Given the description of an element on the screen output the (x, y) to click on. 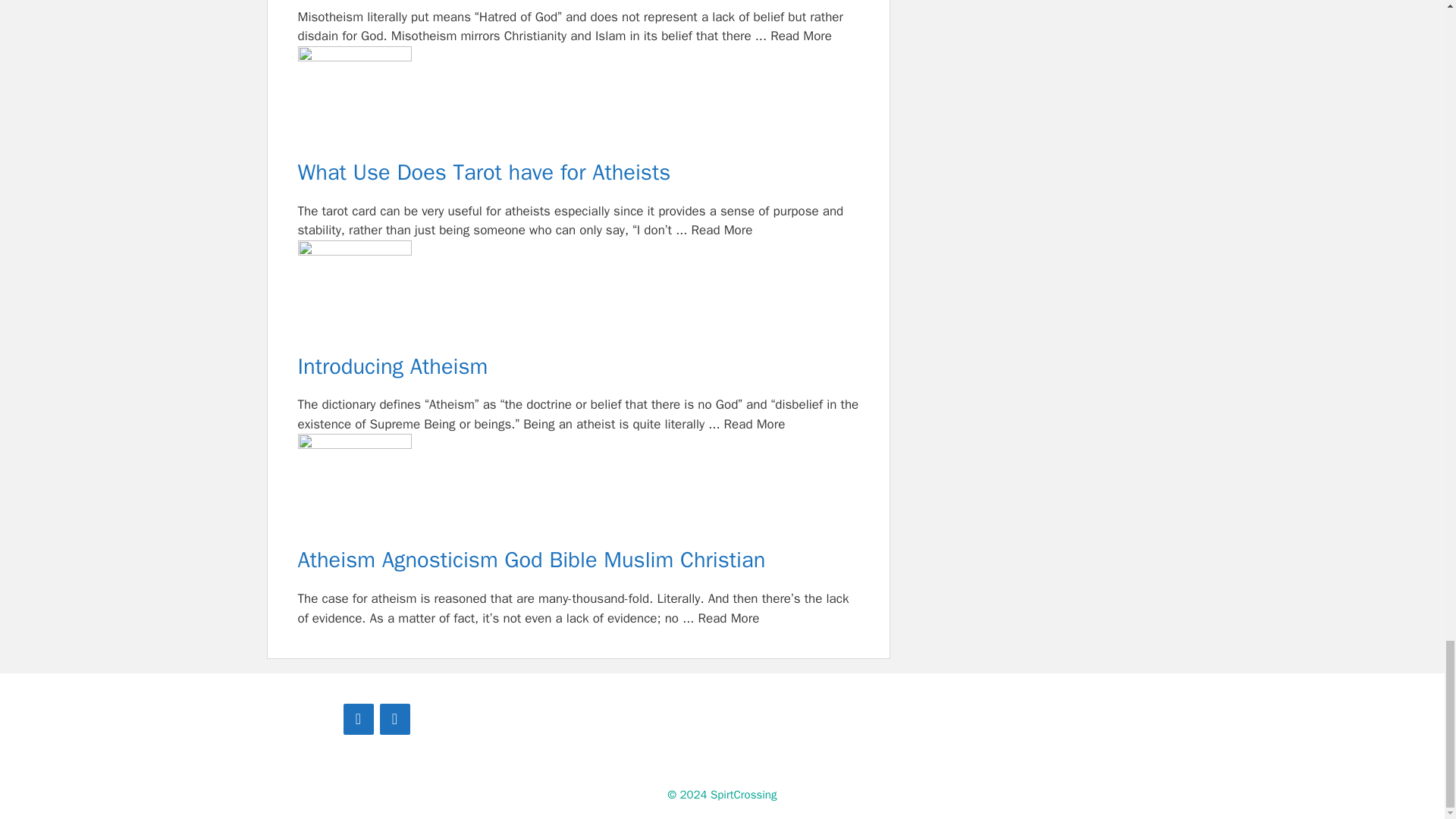
Introducing Atheism (578, 366)
Atheism Agnosticism God Bible Muslim Christian (578, 490)
Facebook (357, 718)
Twitter (393, 718)
Introducing Atheism (578, 296)
What Use Does Tarot have for Atheists (578, 172)
Atheism Agnosticism God Bible Muslim Christian (578, 560)
What Use Does Tarot have for Atheists (578, 102)
